Given the description of an element on the screen output the (x, y) to click on. 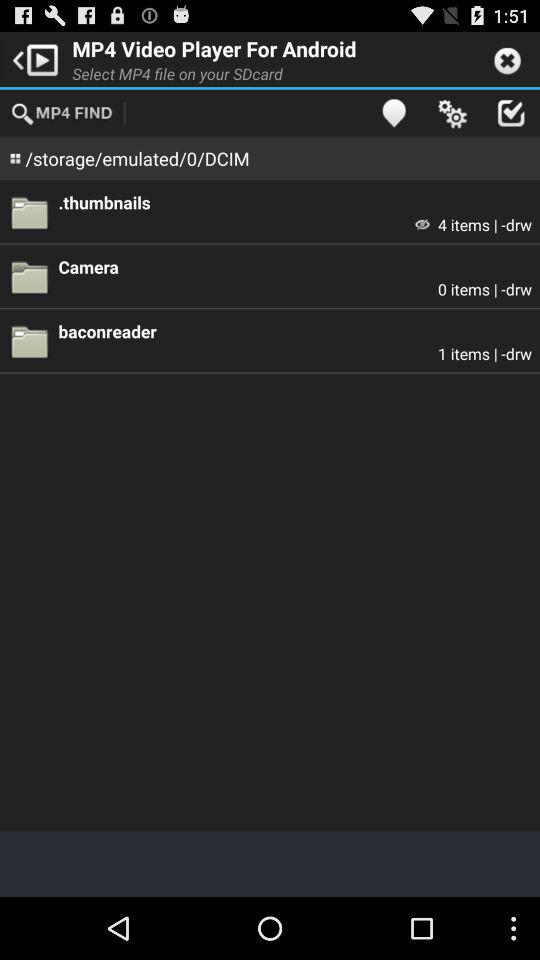
click item above the 1 items | -drw (295, 330)
